Given the description of an element on the screen output the (x, y) to click on. 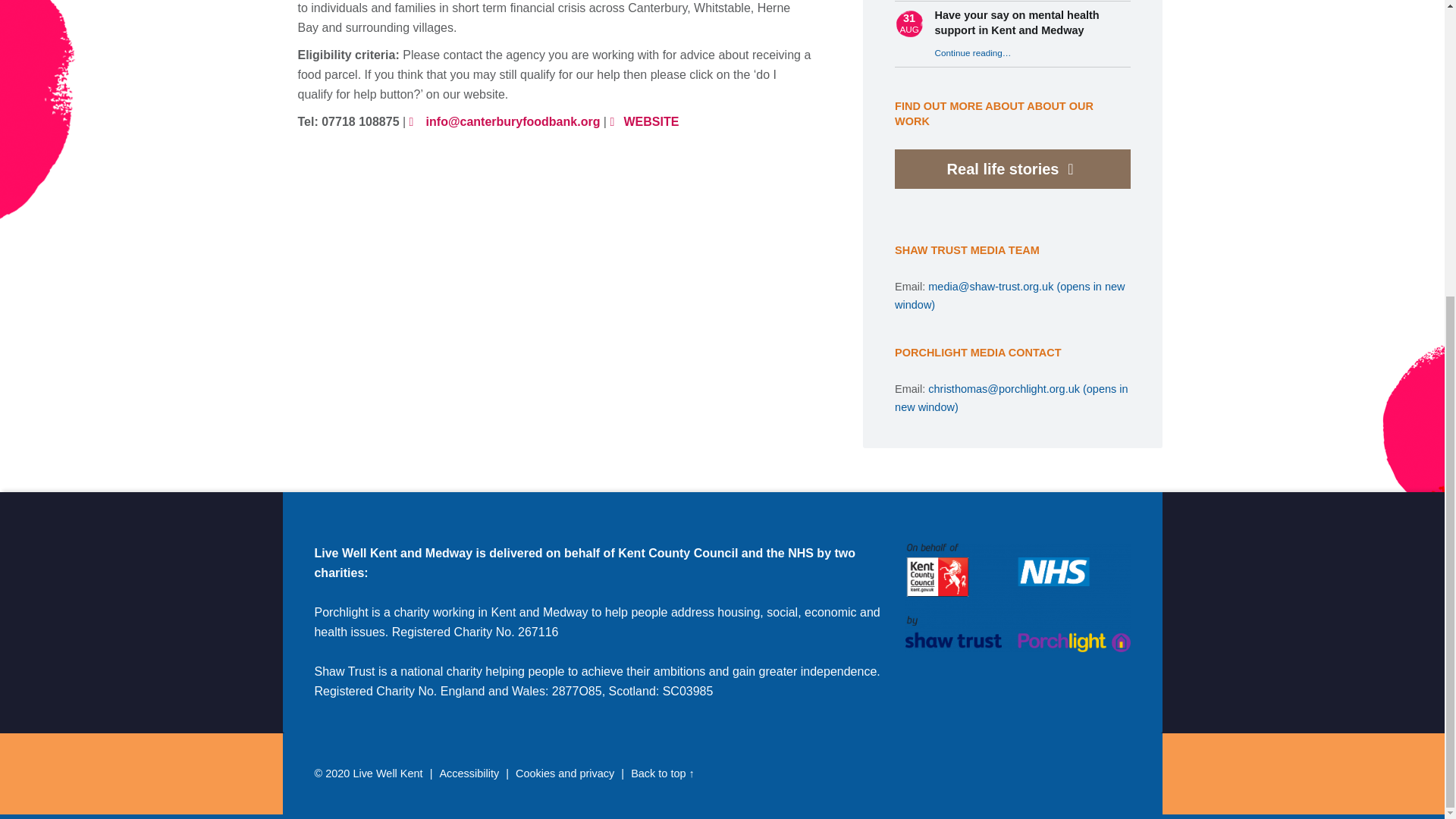
Have your say on mental health support in Kent and Medway (1016, 22)
WEBSITE (644, 121)
Real life stories (1003, 168)
Live Well Kent (387, 773)
